Given the description of an element on the screen output the (x, y) to click on. 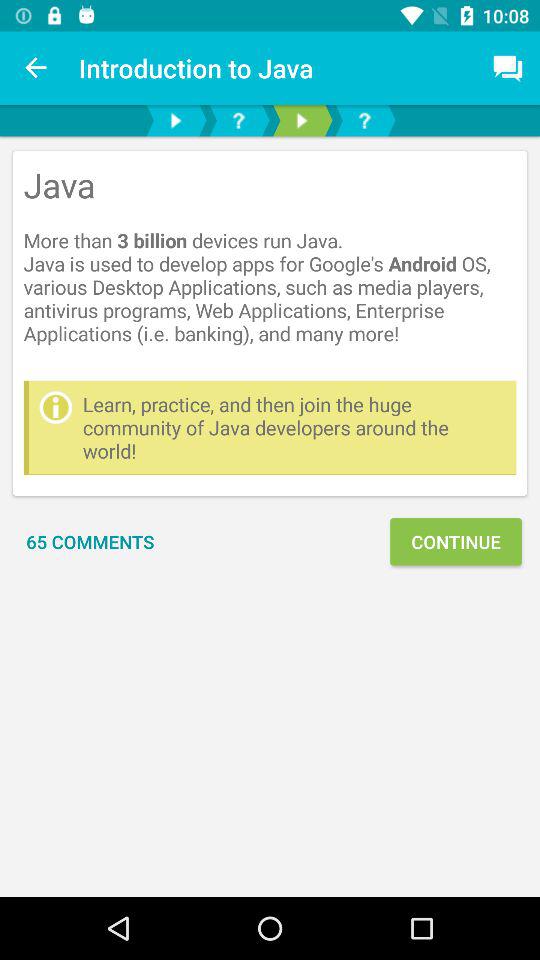
open the item next to the introduction to java icon (36, 68)
